Given the description of an element on the screen output the (x, y) to click on. 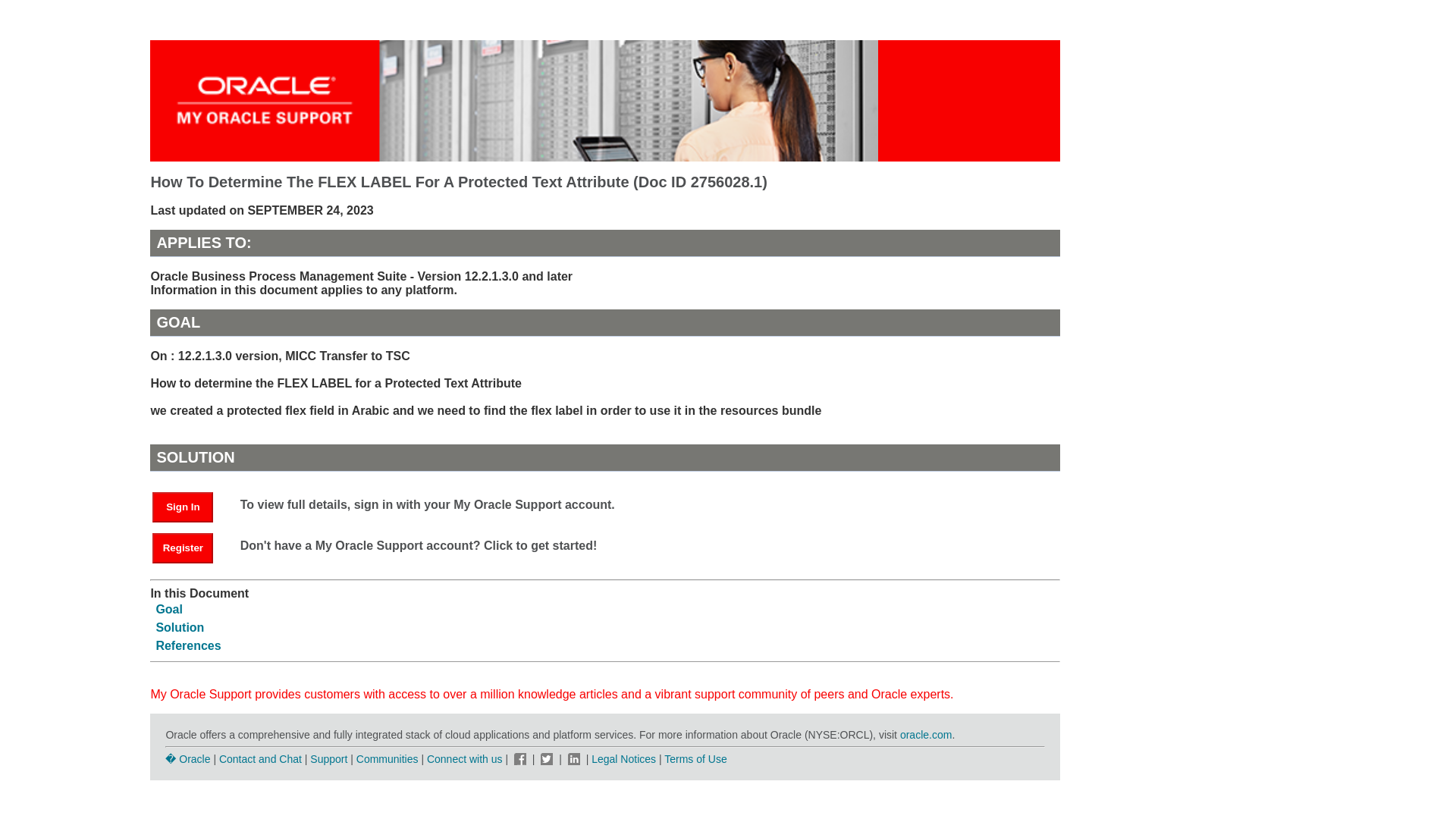
Sign In (182, 507)
Sign In (190, 505)
Terms of Use (694, 758)
Support (328, 758)
Contact and Chat (260, 758)
Solution (179, 626)
Legal Notices (623, 758)
oracle.com (925, 734)
Register (190, 546)
oracle.com (925, 734)
